Given the description of an element on the screen output the (x, y) to click on. 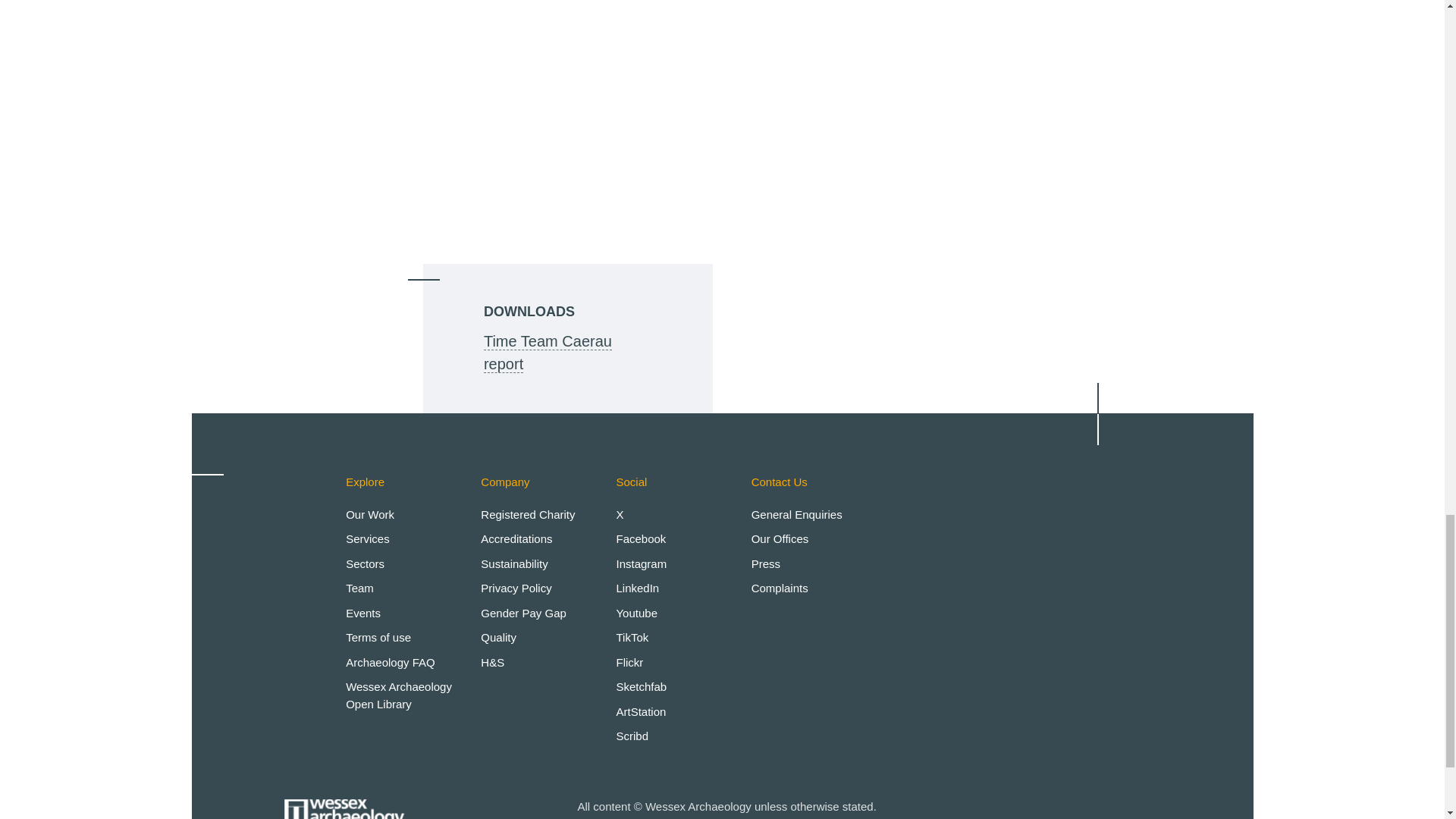
Health, Safety and Welfare (491, 661)
Team members (360, 587)
Sectors (365, 562)
Team (360, 587)
Social (630, 481)
Events (363, 612)
Wessex Archaeology Open Library (398, 695)
Registered Charity (527, 513)
Registered Charity (527, 513)
Upcoming Events (363, 612)
252377682-Time-Team-Caerau.pdf (547, 352)
Home (343, 800)
Privacy Policy (515, 587)
Terms of use (378, 636)
Quality (498, 636)
